Given the description of an element on the screen output the (x, y) to click on. 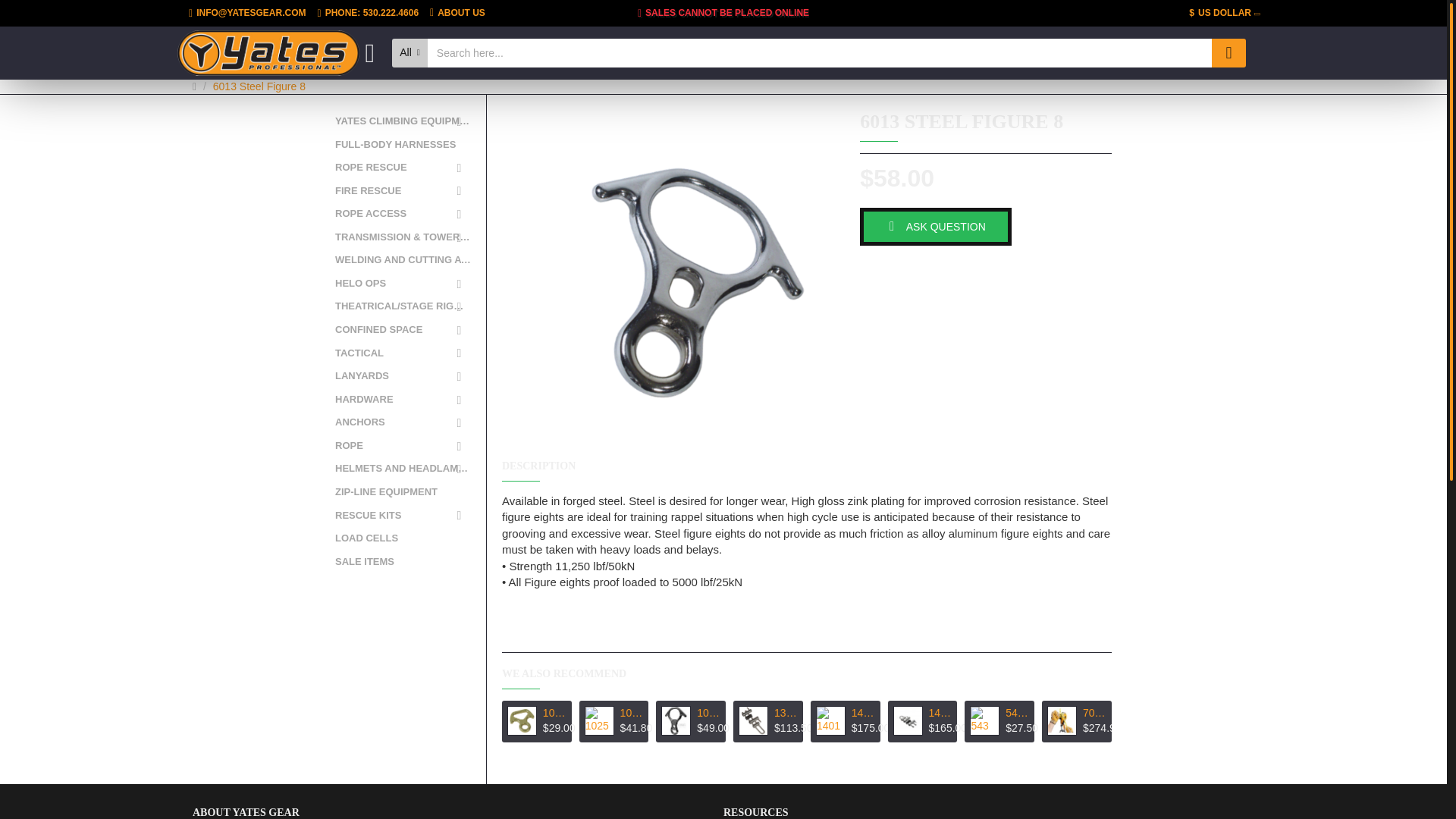
6013 Steel Figure 8 (669, 277)
1401 SMC Brake Rack (830, 720)
SALES CANNOT BE PLACED ONLINE (722, 13)
13700 SMC 4 Bar Micro U-Rack (753, 720)
Yates Gear, Inc. (268, 53)
1026 ISC RP100 Large Aluminum 8 (675, 720)
7018 Petzl RIG Descender - Gold (1061, 720)
PHONE: 530.222.4606 (368, 13)
ABOUT US (457, 13)
1404 SMC 4 Bar U-Racks (908, 720)
